Given the description of an element on the screen output the (x, y) to click on. 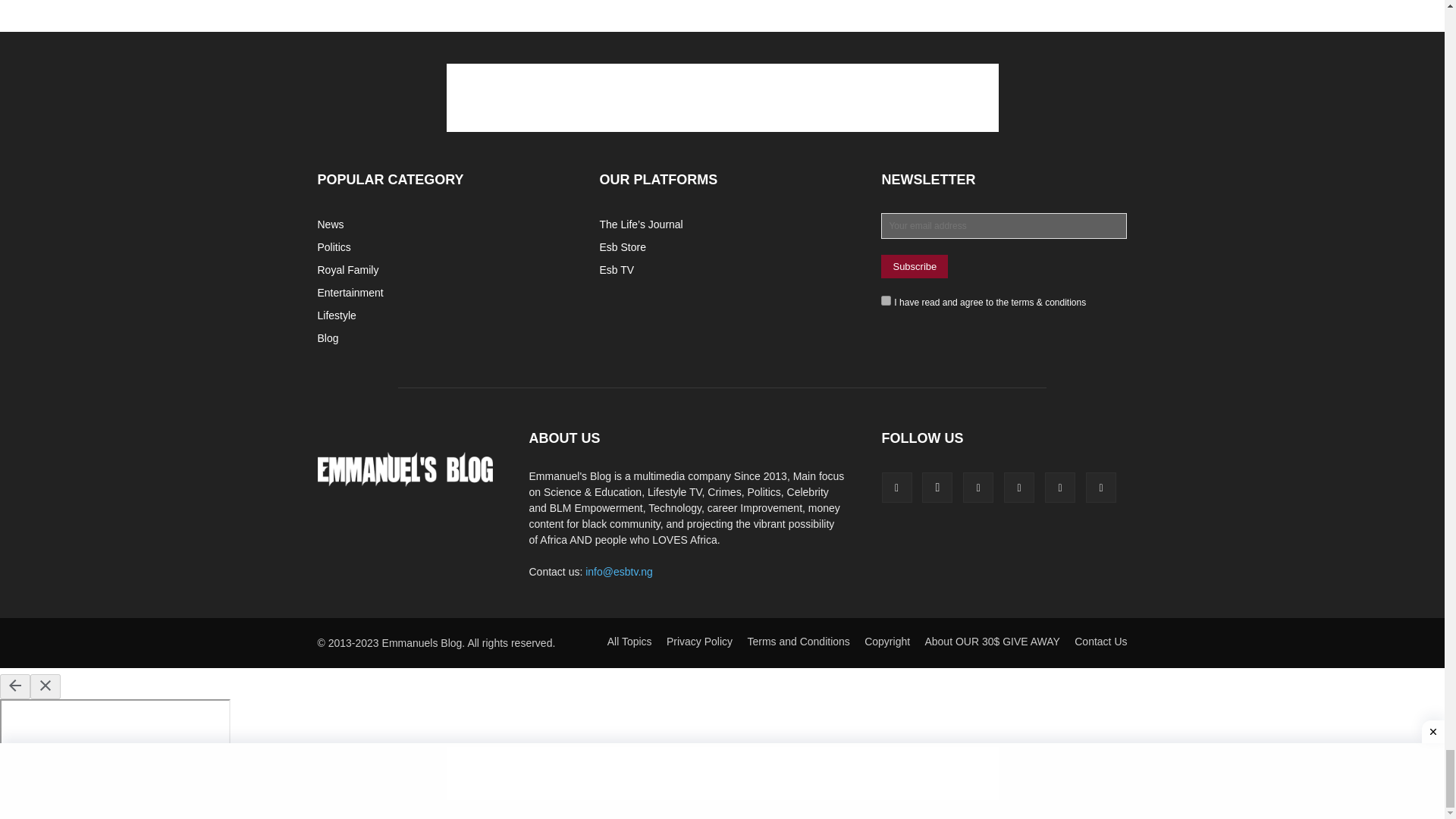
1 (885, 300)
Subscribe (913, 266)
